Given the description of an element on the screen output the (x, y) to click on. 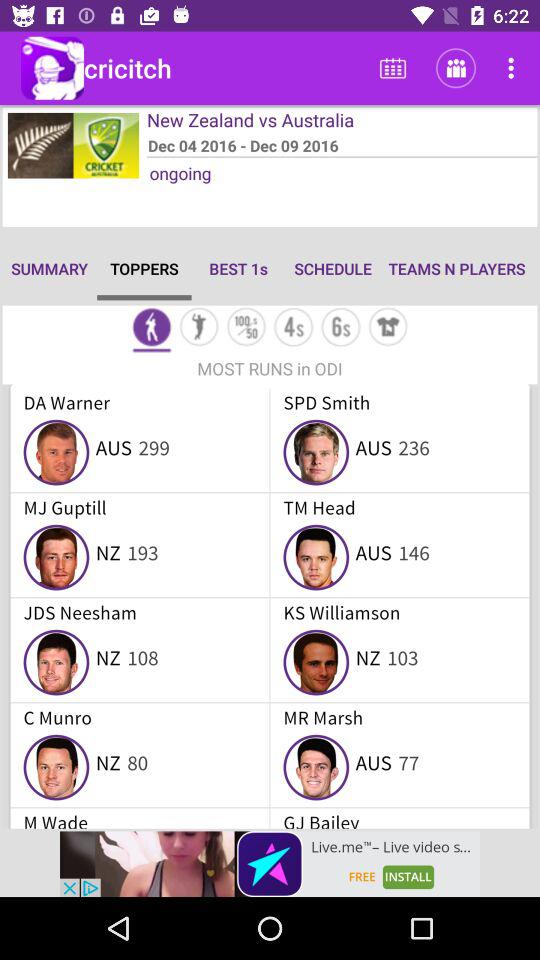
six pega (340, 328)
